Given the description of an element on the screen output the (x, y) to click on. 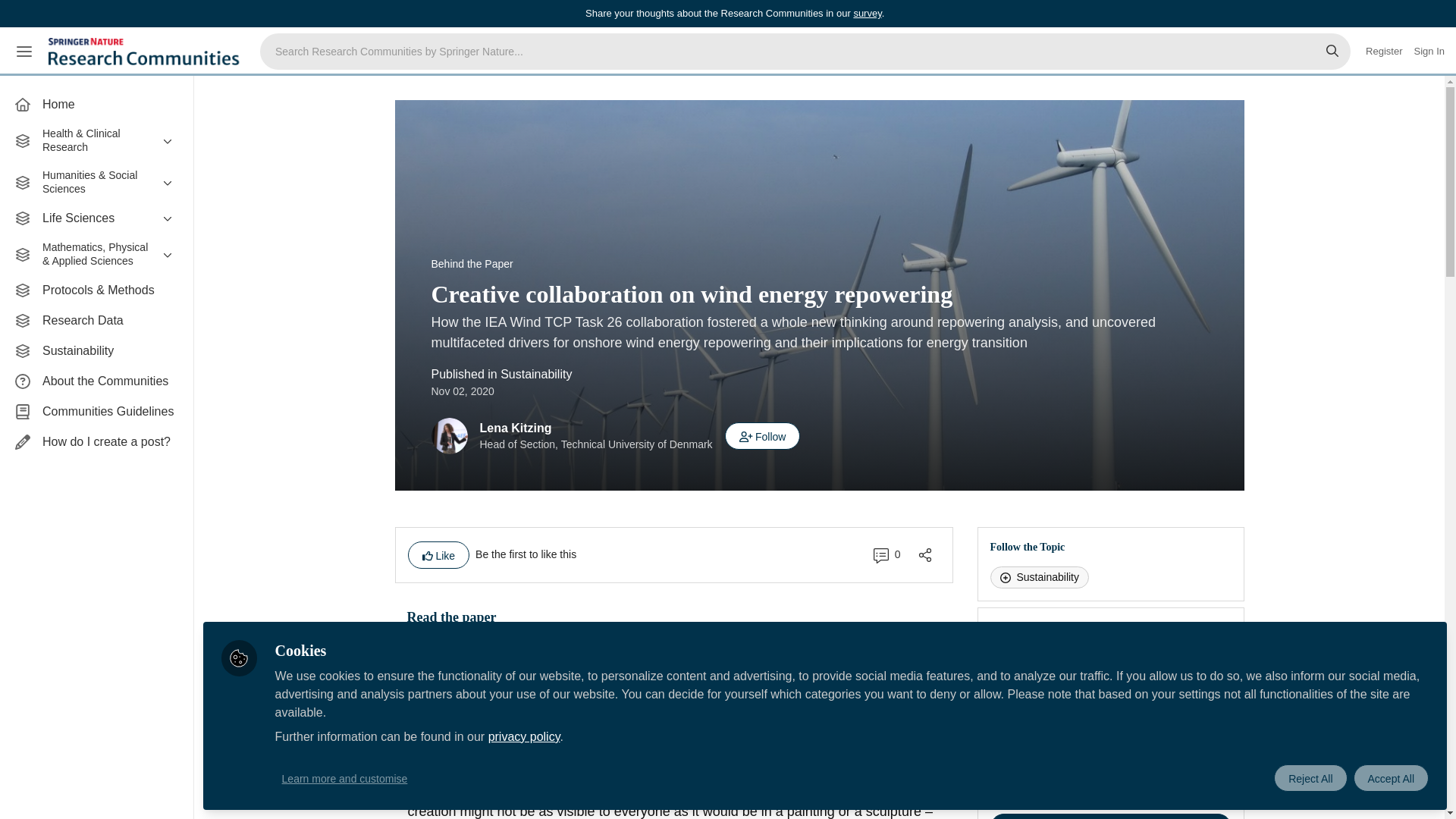
Life Sciences (96, 217)
Home (96, 103)
survey (866, 12)
Research Communities by Springer Nature (146, 51)
Home (96, 103)
Menu (24, 51)
Life Sciences (96, 217)
Search (1332, 51)
